Given the description of an element on the screen output the (x, y) to click on. 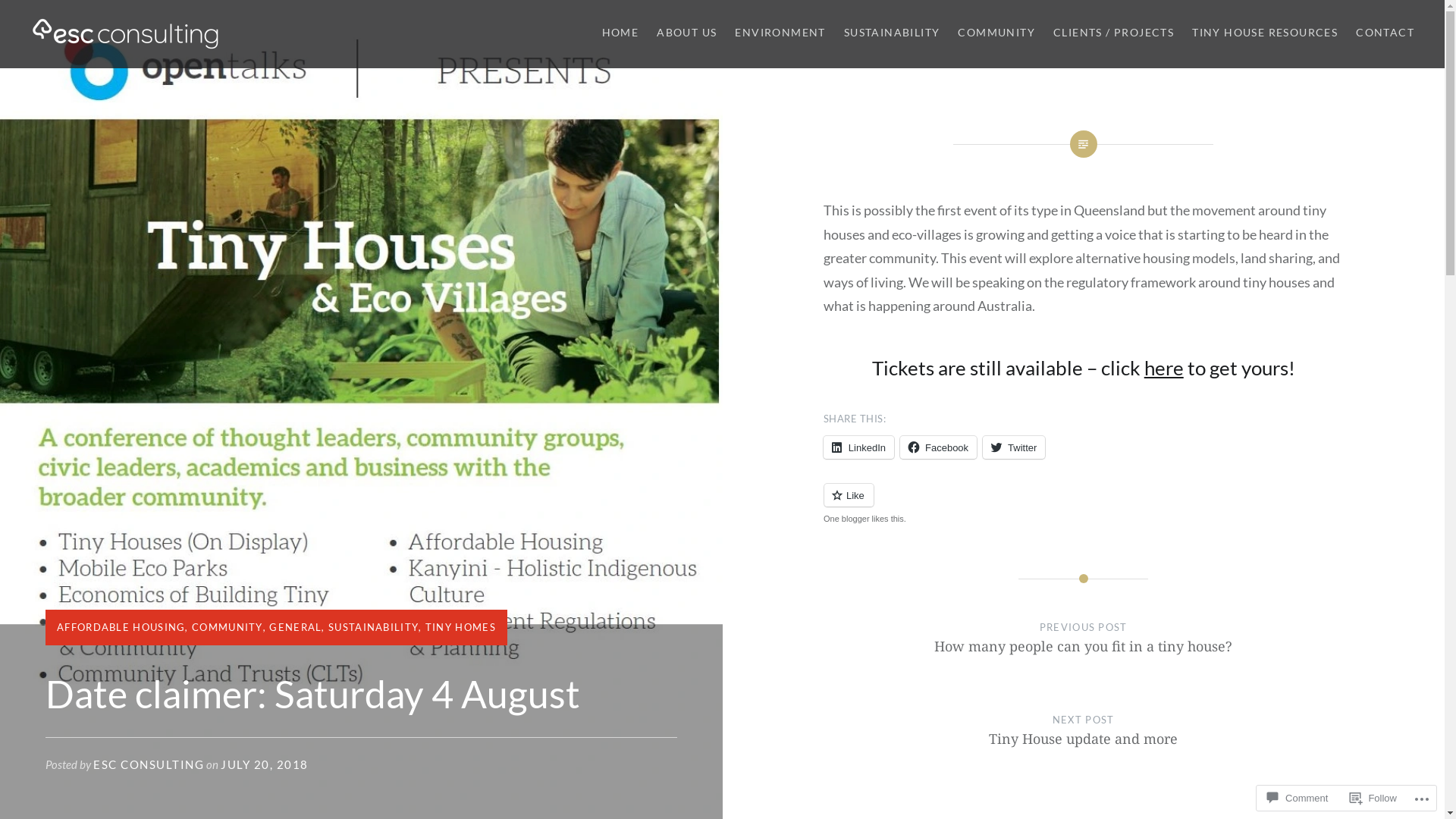
TINY HOMES Element type: text (460, 627)
COMMUNITY Element type: text (227, 627)
AFFORDABLE HOUSING Element type: text (120, 627)
ESC CONSULTING Element type: text (148, 764)
PREVIOUS POST
How many people can you fit in a tiny house? Element type: text (1083, 651)
Search Element type: text (141, 19)
COMMUNITY Element type: text (996, 32)
CONTACT Element type: text (1384, 32)
GENERAL Element type: text (295, 627)
SUSTAINABILITY Element type: text (373, 627)
SUSTAINABILITY Element type: text (892, 32)
Follow Element type: text (1372, 797)
ENVIRONMENT Element type: text (779, 32)
Like or Reblog Element type: hover (1083, 503)
HOME Element type: text (620, 32)
Twitter Element type: text (1013, 447)
Comment Element type: text (1297, 797)
TINY HOUSE RESOURCES Element type: text (1264, 32)
JULY 20, 2018 Element type: text (264, 764)
NEXT POST
Tiny House update and more Element type: text (1083, 744)
Facebook Element type: text (938, 447)
ABOUT US Element type: text (686, 32)
CLIENTS / PROJECTS Element type: text (1113, 32)
here Element type: text (1163, 367)
LinkedIn Element type: text (858, 447)
